Given the description of an element on the screen output the (x, y) to click on. 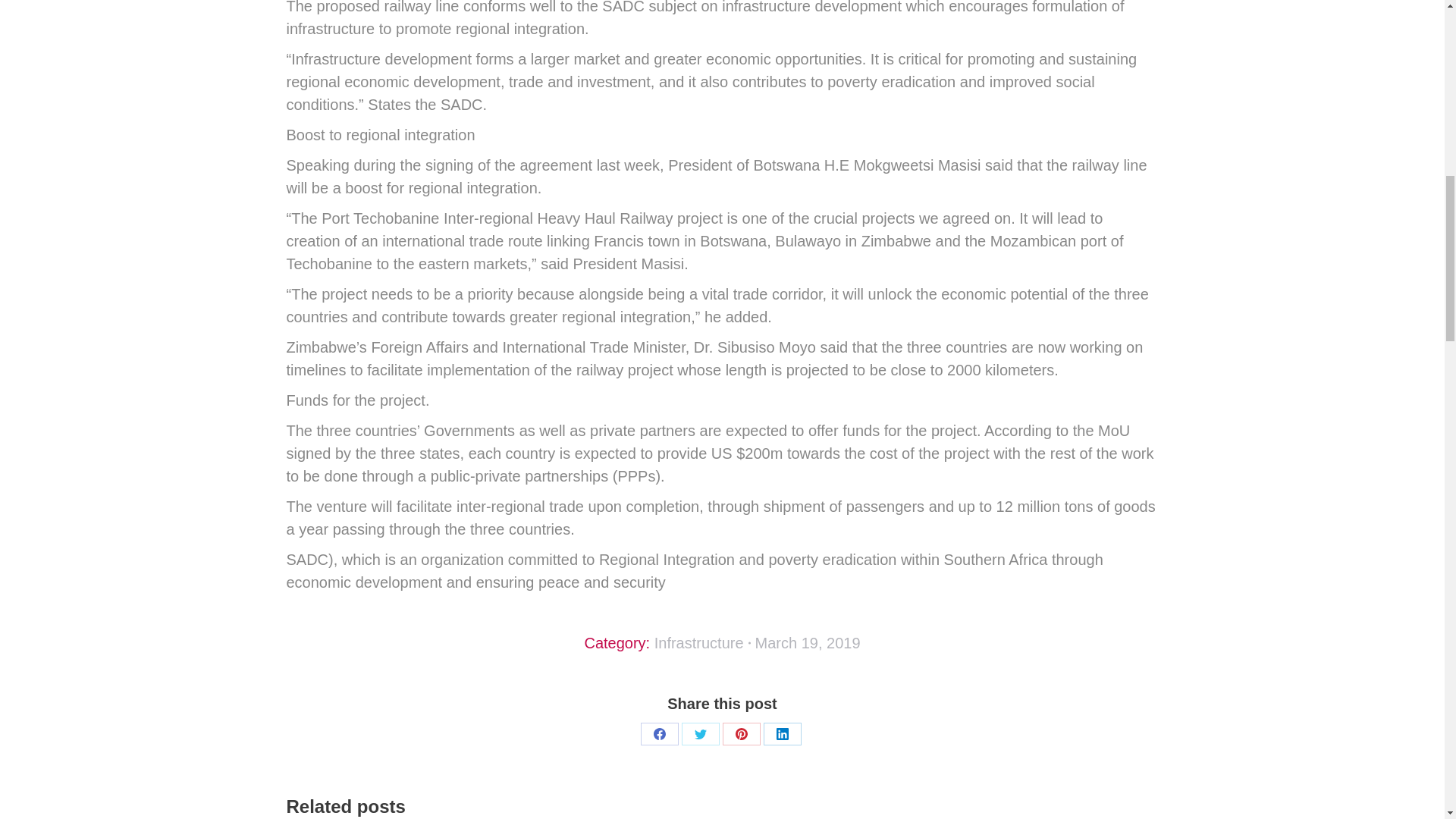
Facebook (659, 733)
Twitter (700, 733)
8:23 am (807, 642)
LinkedIn (781, 733)
Pinterest (741, 733)
